Given the description of an element on the screen output the (x, y) to click on. 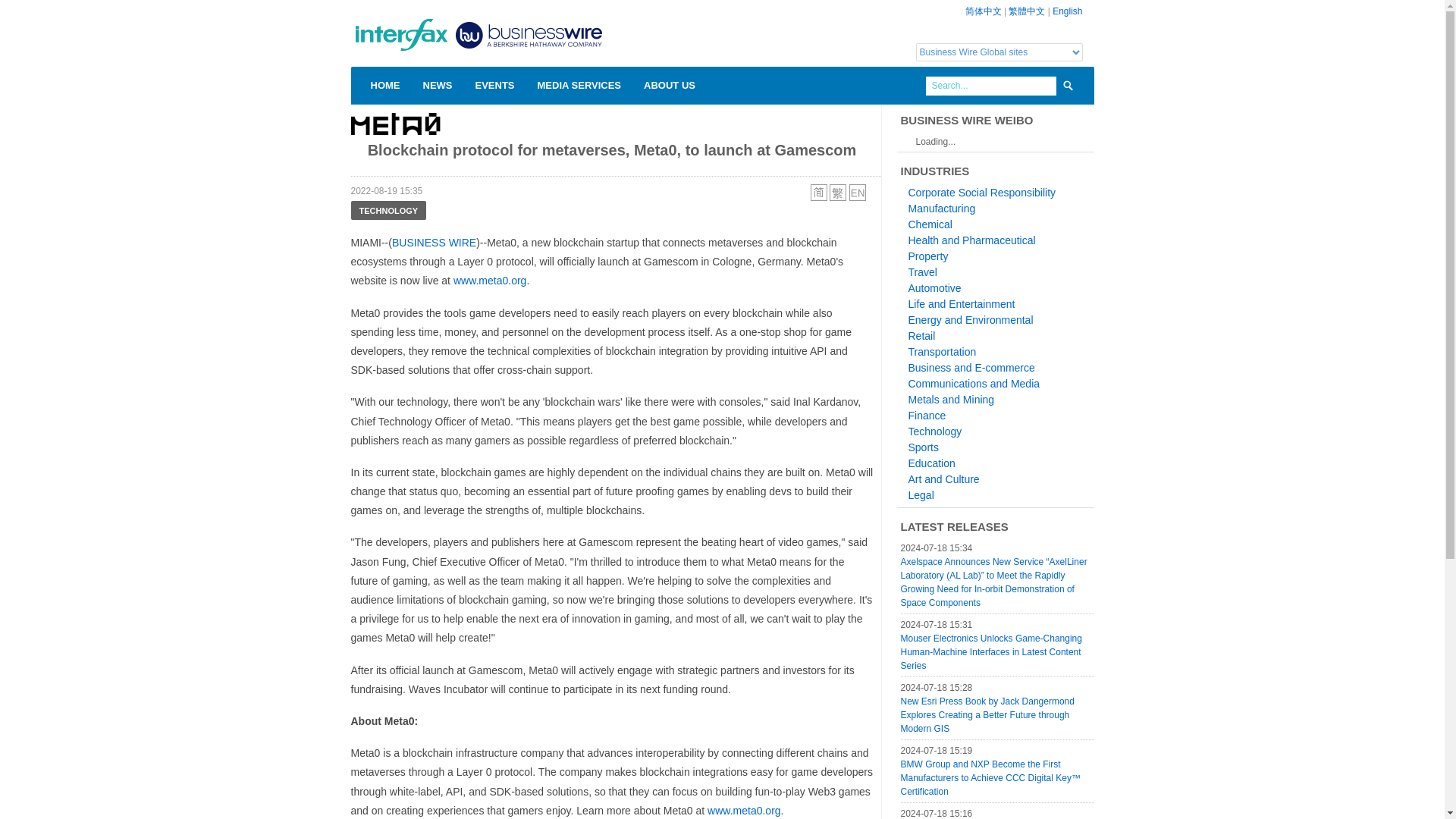
Legal (921, 494)
Finance (927, 415)
Automotive (934, 287)
Transportation (942, 351)
Search... (989, 85)
Business and E-commerce (971, 367)
TECHNOLOGY (388, 210)
www.meta0.org (488, 280)
Energy and Environmental (970, 319)
Communications and Media (974, 383)
HOME (380, 85)
Travel (922, 272)
Manufacturing (941, 208)
Property (928, 256)
Art and Culture (943, 479)
